Given the description of an element on the screen output the (x, y) to click on. 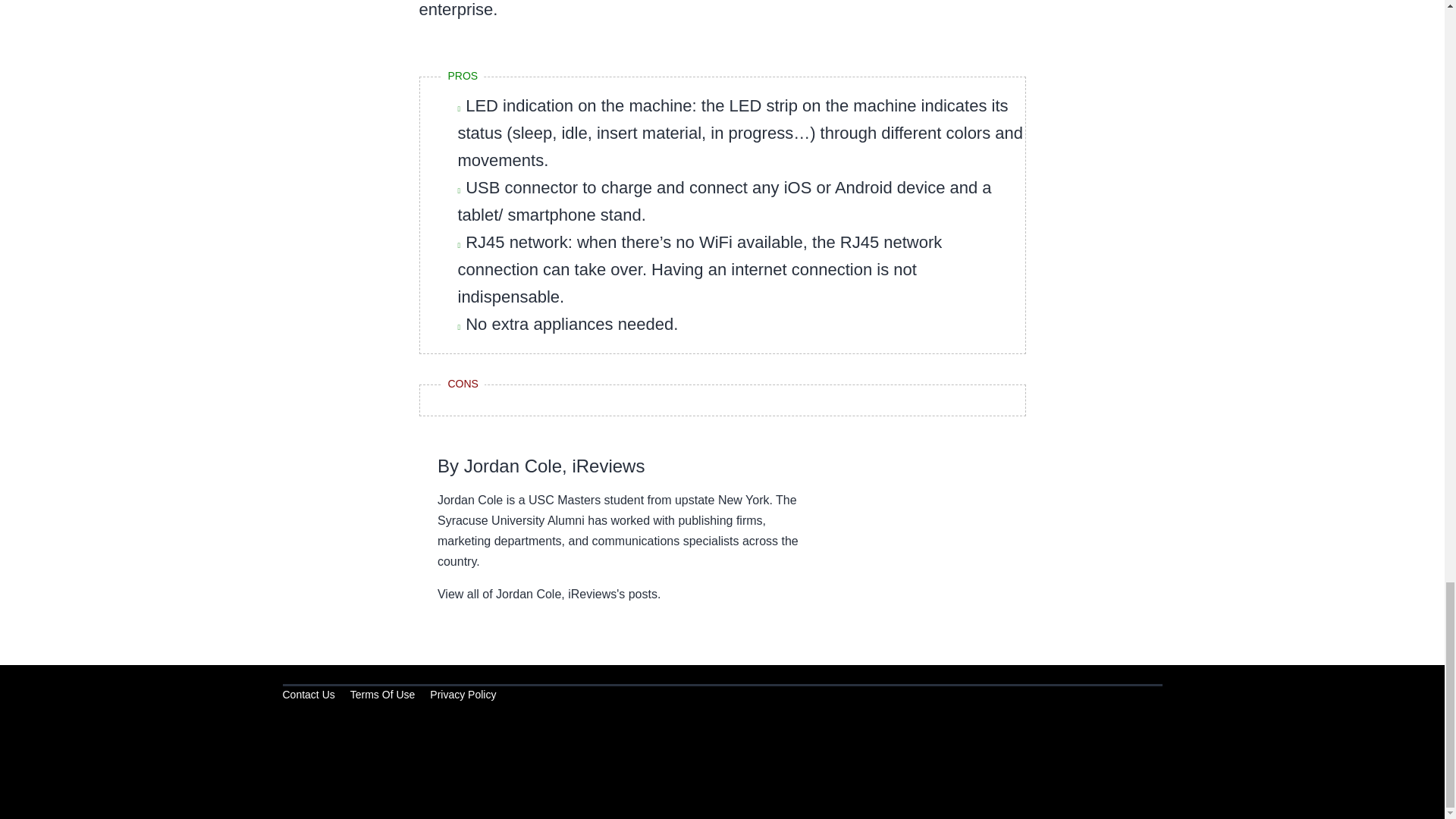
Contact Us (308, 695)
Privacy Policy (462, 695)
Terms Of Use (382, 695)
View all of Jordan Cole, iReviews's posts. (549, 593)
